Given the description of an element on the screen output the (x, y) to click on. 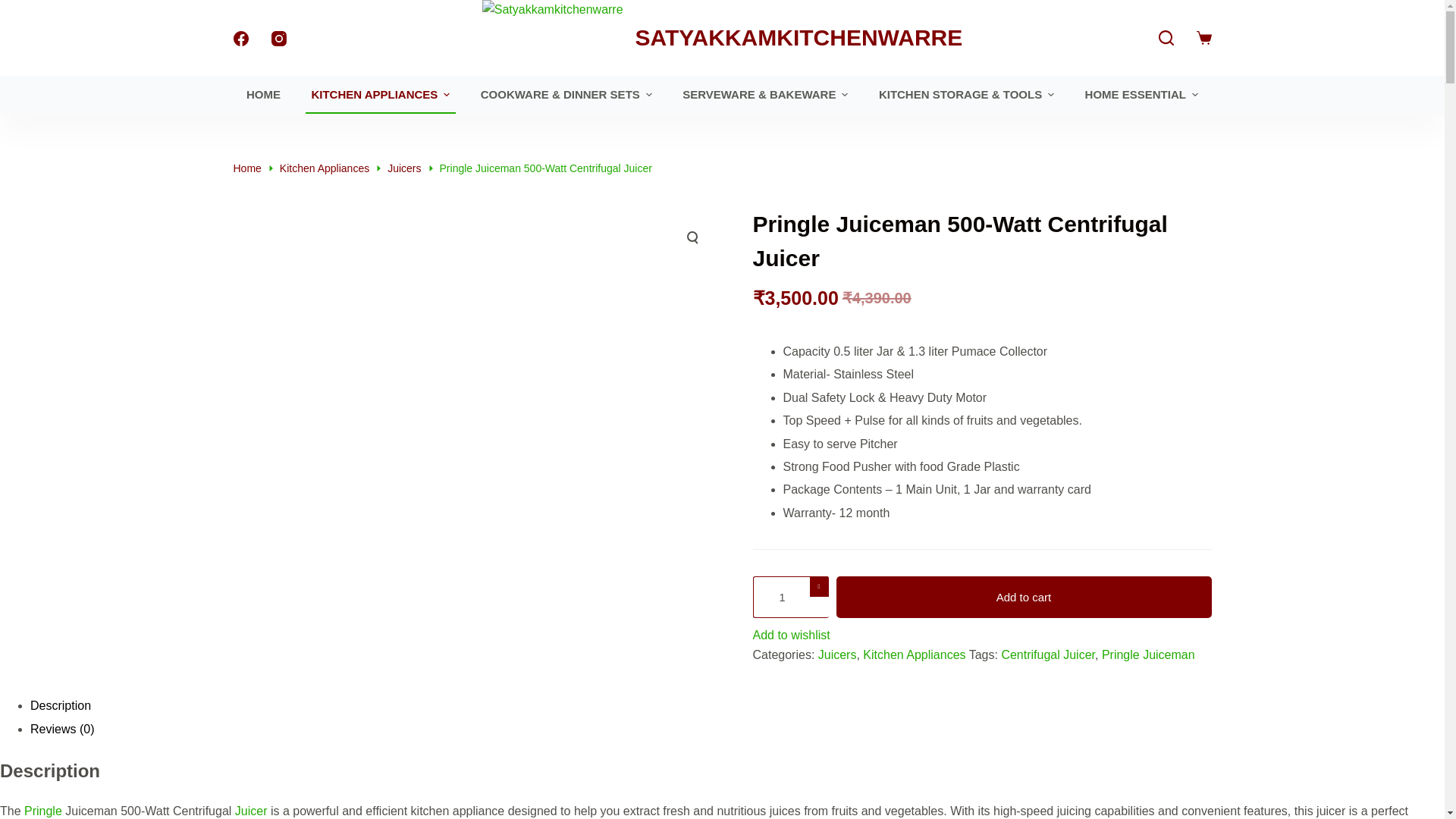
Skip to content (15, 7)
1 (790, 597)
